Given the description of an element on the screen output the (x, y) to click on. 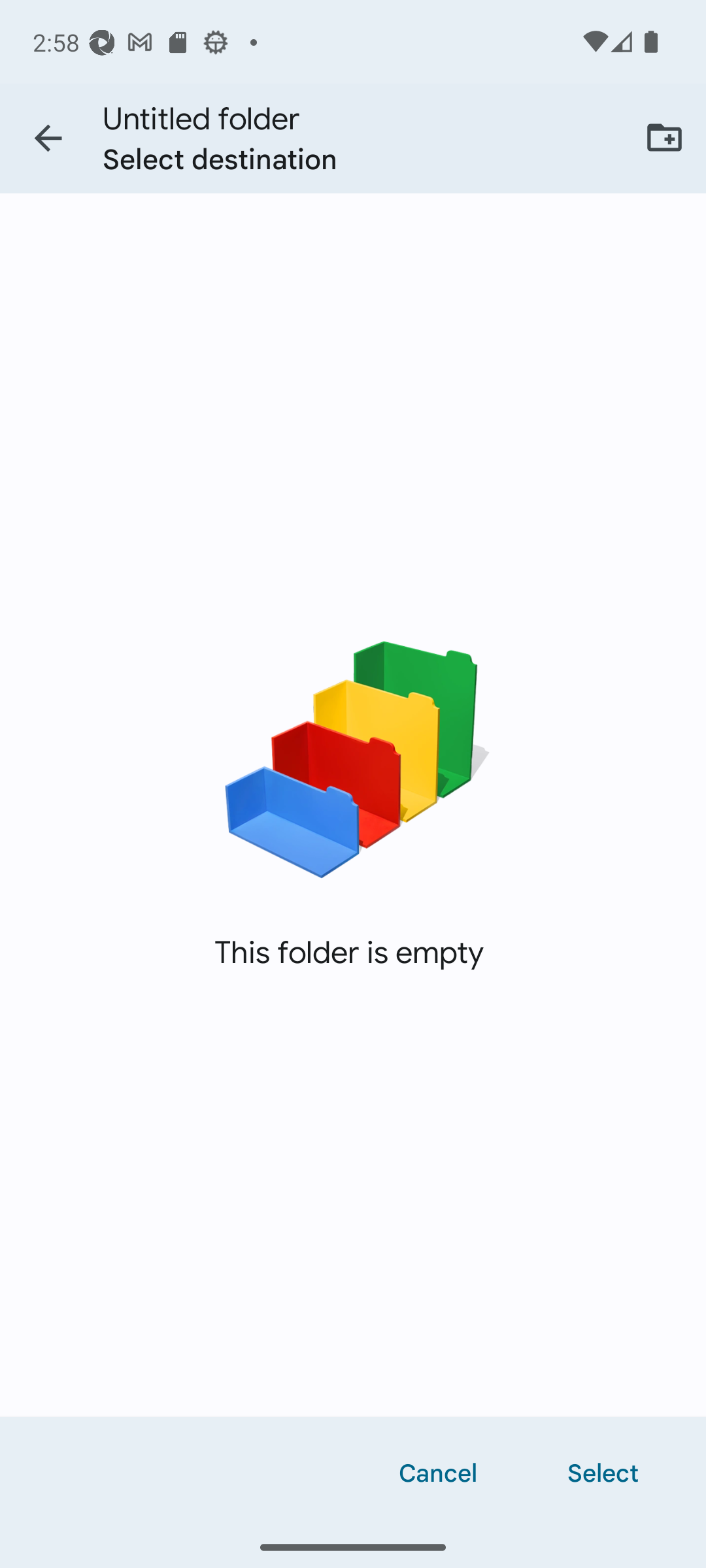
Back (48, 138)
Create new folder (664, 137)
Cancel (437, 1471)
Select (602, 1471)
